Given the description of an element on the screen output the (x, y) to click on. 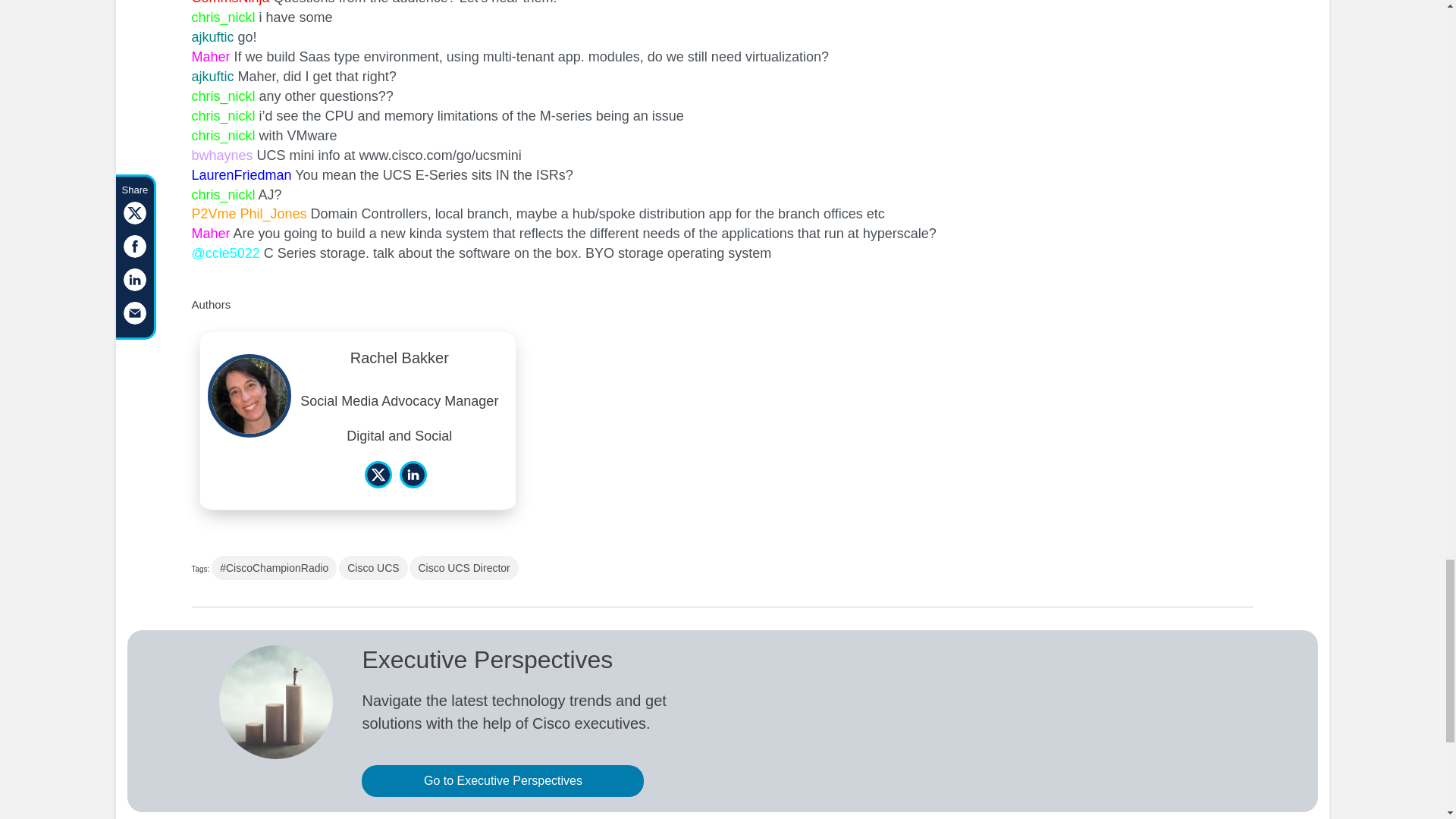
Cisco UCS (373, 567)
Cisco UCS Director (463, 567)
Go to Executive Perspectives (502, 780)
Rachel Bakker (399, 361)
